Given the description of an element on the screen output the (x, y) to click on. 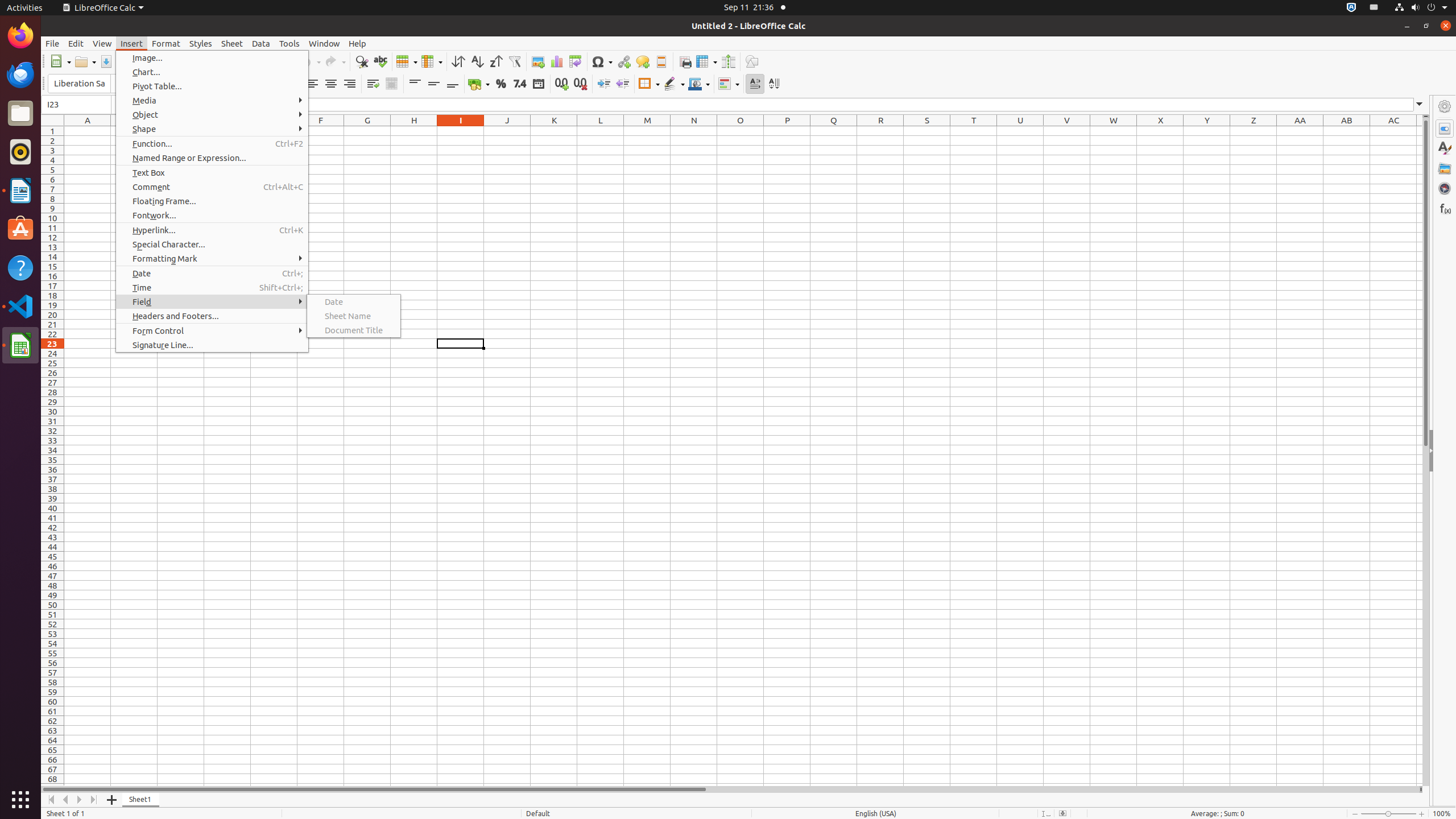
Expand Formula Bar Element type: push-button (1419, 104)
Comment Element type: push-button (642, 61)
G1 Element type: table-cell (367, 130)
U1 Element type: table-cell (1020, 130)
R1 Element type: table-cell (880, 130)
